Given the description of an element on the screen output the (x, y) to click on. 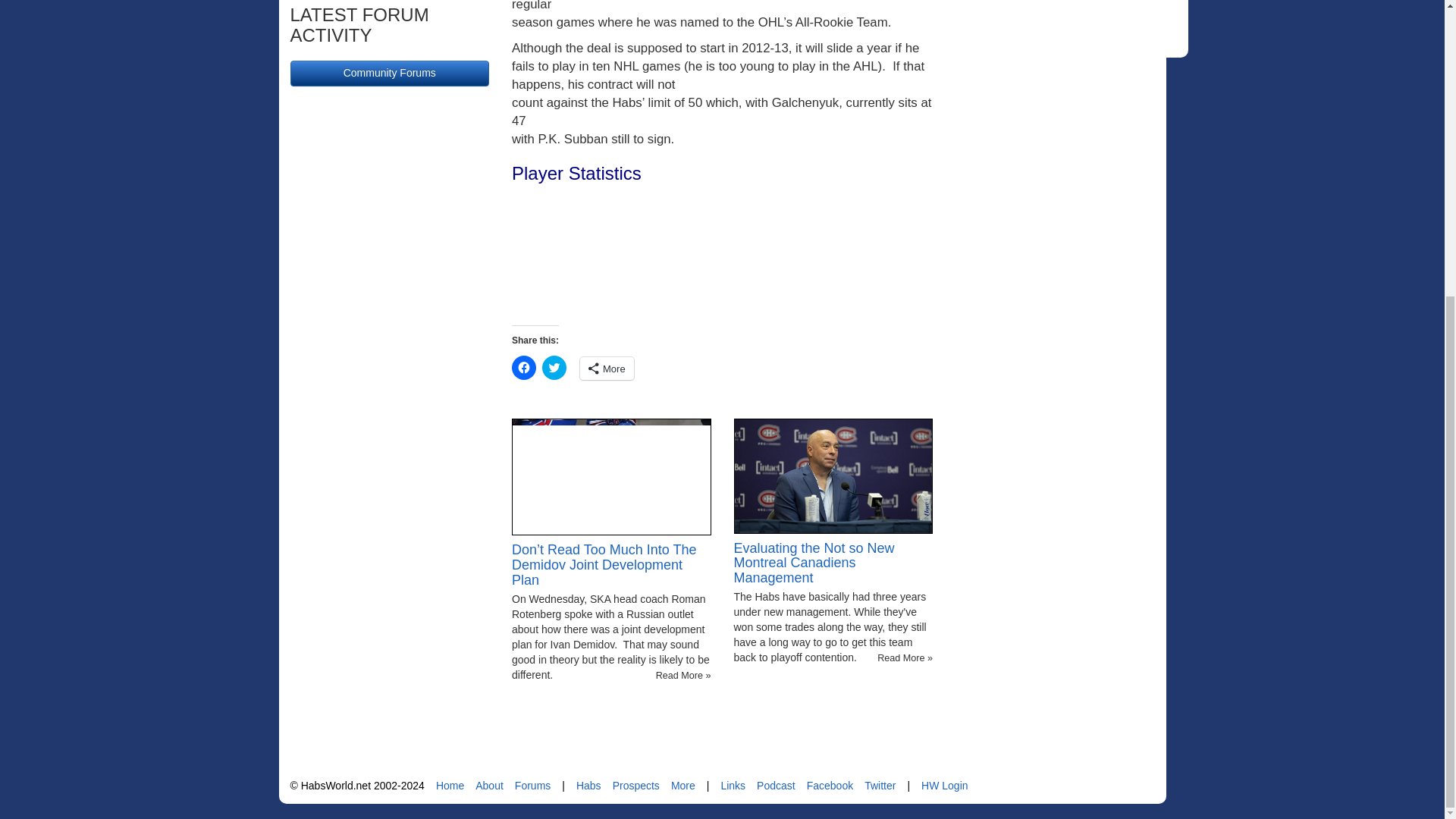
Home (449, 785)
About (489, 785)
HW Login (944, 785)
Community Forums (389, 73)
More (606, 368)
Links (732, 785)
Click to share on Facebook (523, 367)
Podcast (775, 785)
Prospects (635, 785)
More (683, 785)
Twitter (879, 785)
Habs (588, 785)
Forums (532, 785)
Click to share on Twitter (553, 367)
Facebook (829, 785)
